Given the description of an element on the screen output the (x, y) to click on. 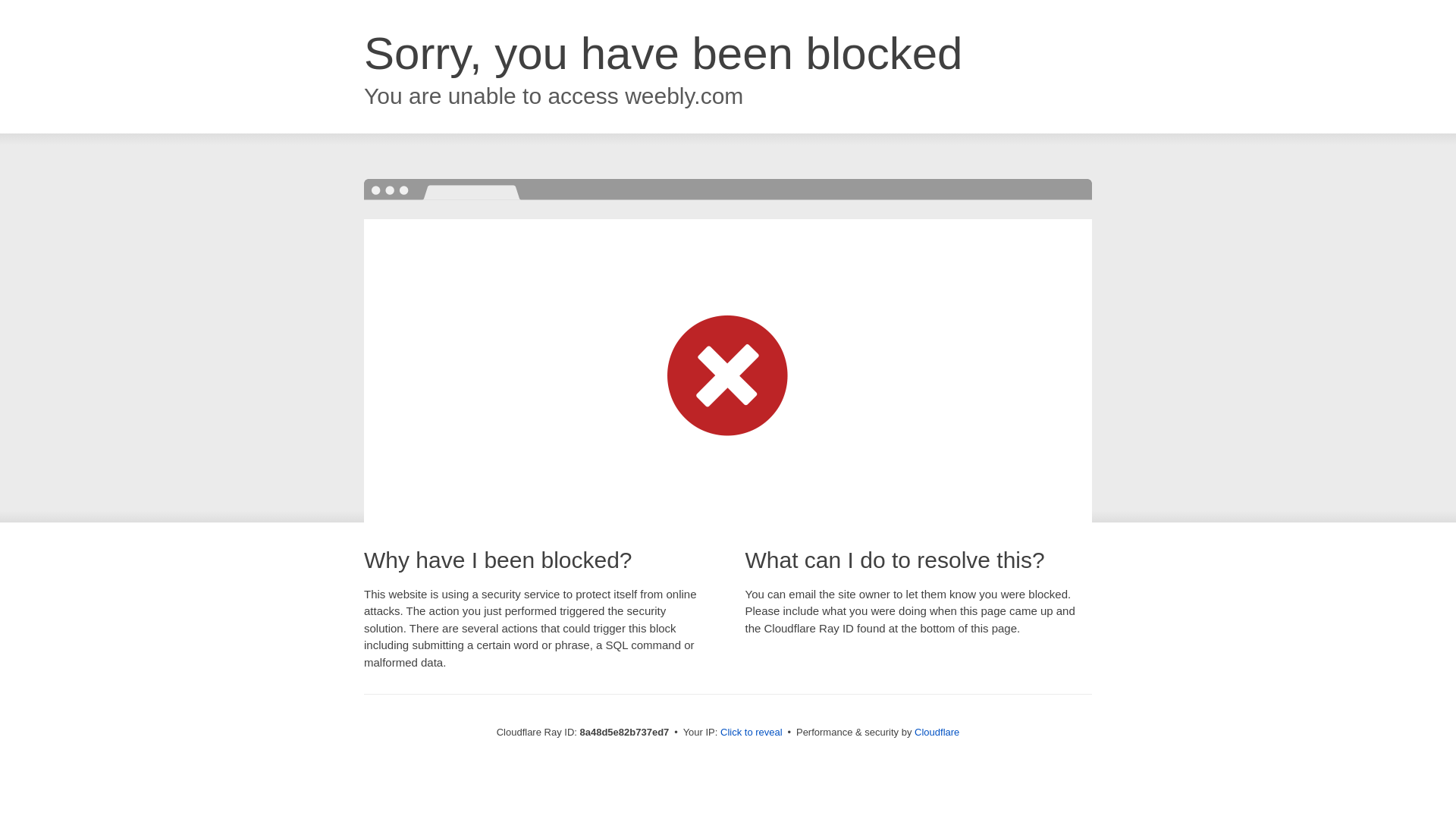
Cloudflare (936, 731)
Click to reveal (751, 732)
